Given the description of an element on the screen output the (x, y) to click on. 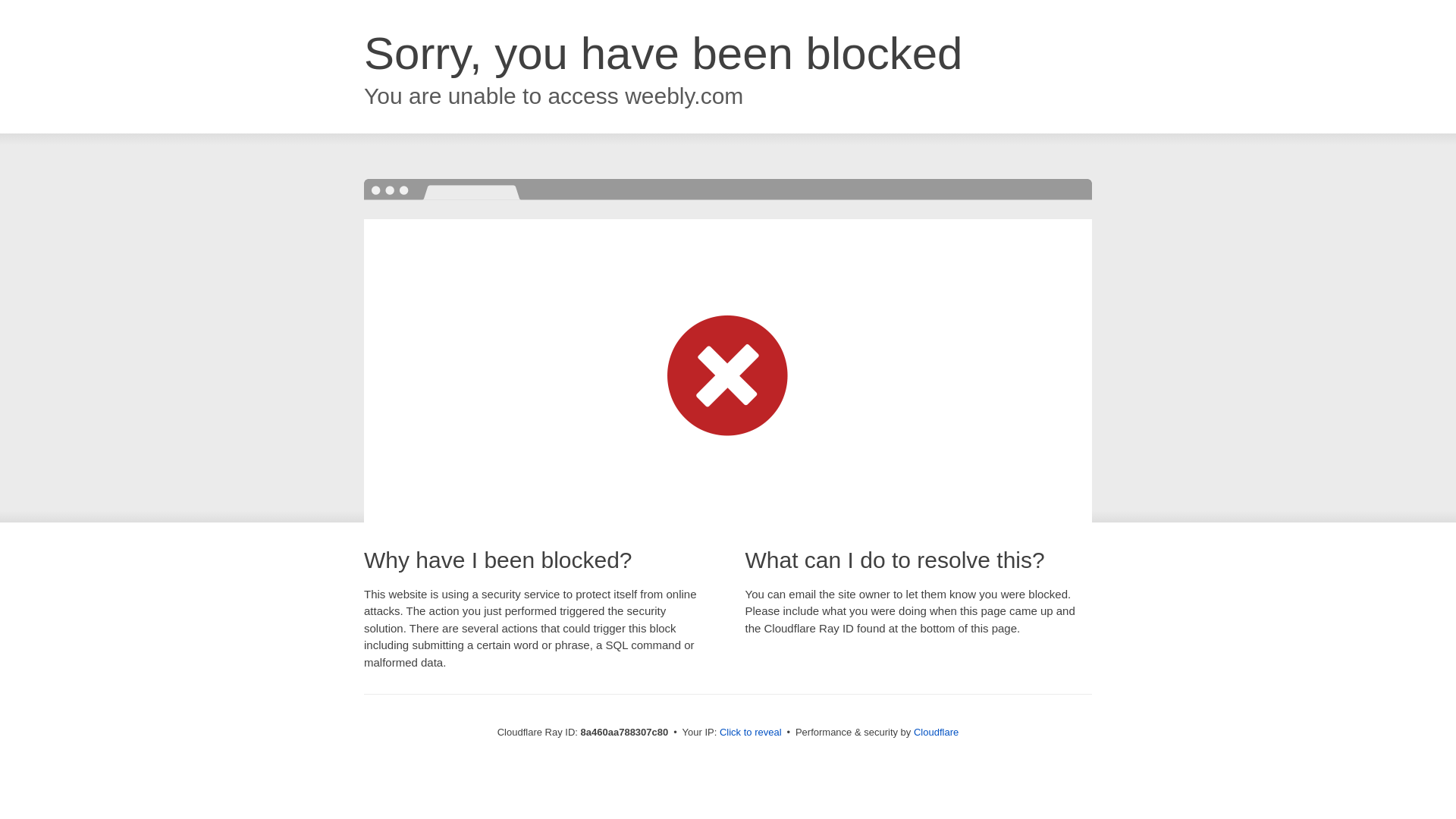
Cloudflare (936, 731)
Click to reveal (750, 732)
